Given the description of an element on the screen output the (x, y) to click on. 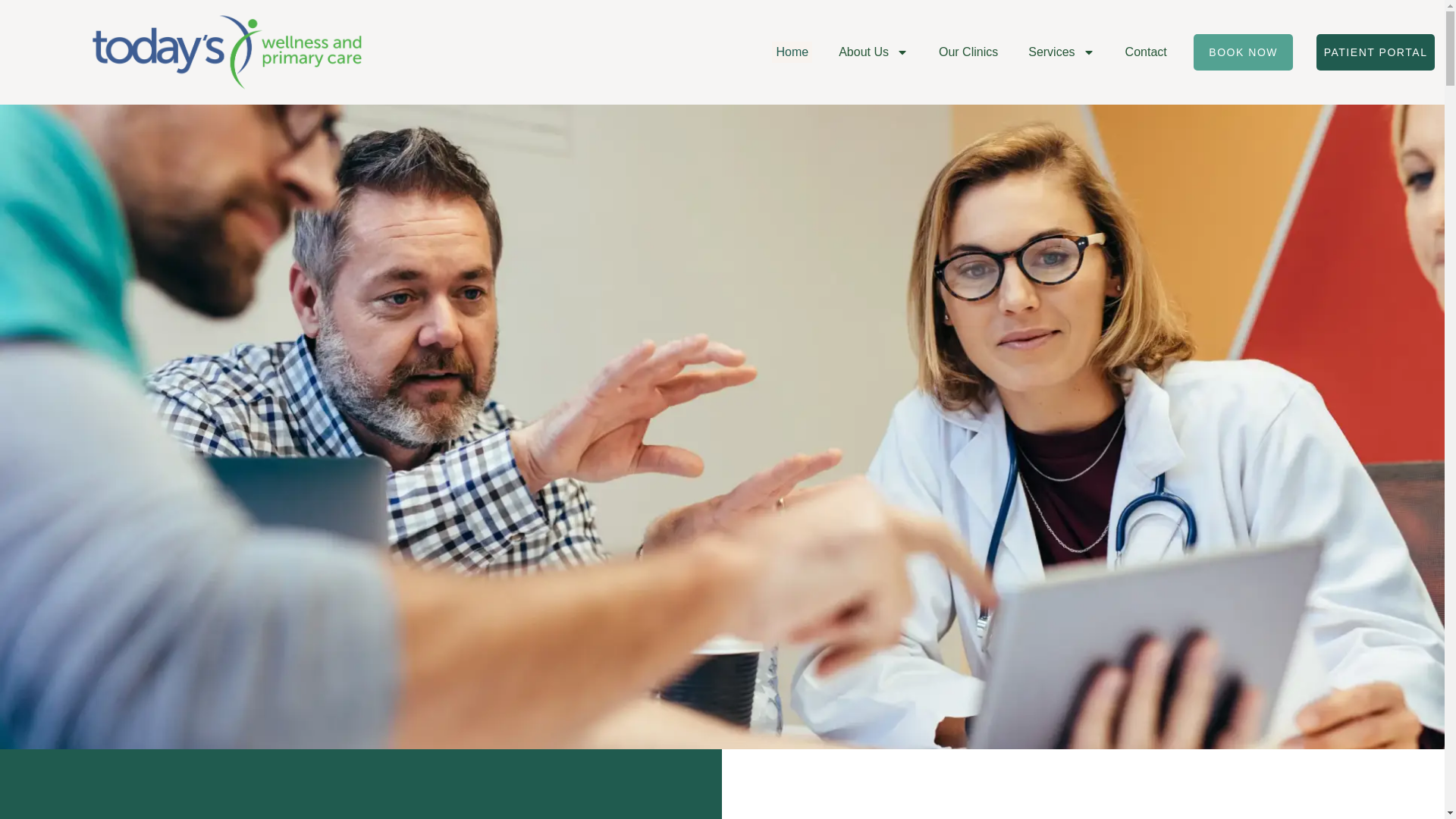
Services (1061, 52)
Home (791, 52)
Our Clinics (967, 52)
About Us (873, 52)
Contact (1145, 52)
